Given the description of an element on the screen output the (x, y) to click on. 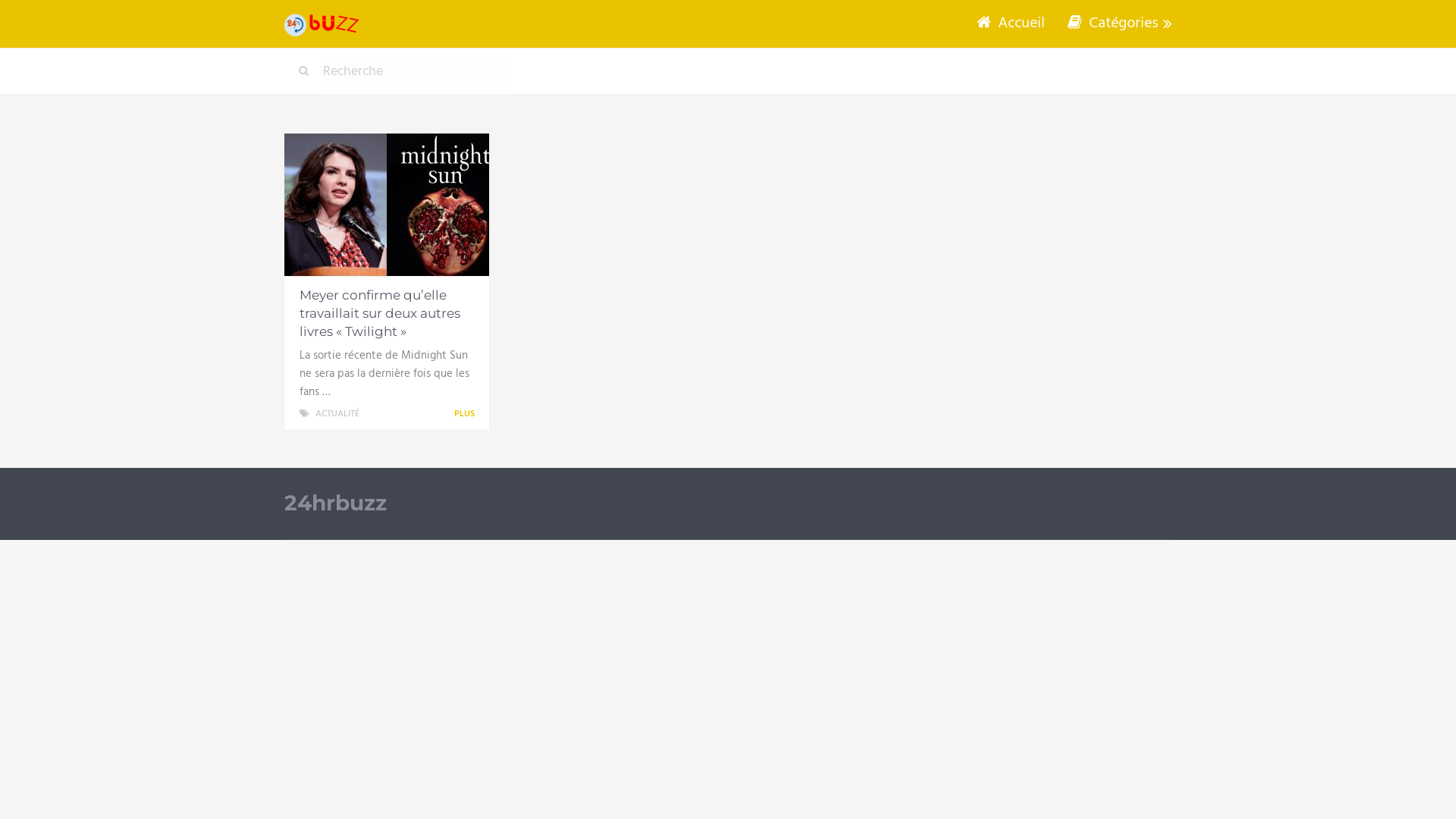
PLUS Element type: text (467, 413)
24hrbuzz Element type: text (335, 503)
Accueil Element type: text (1010, 23)
